Given the description of an element on the screen output the (x, y) to click on. 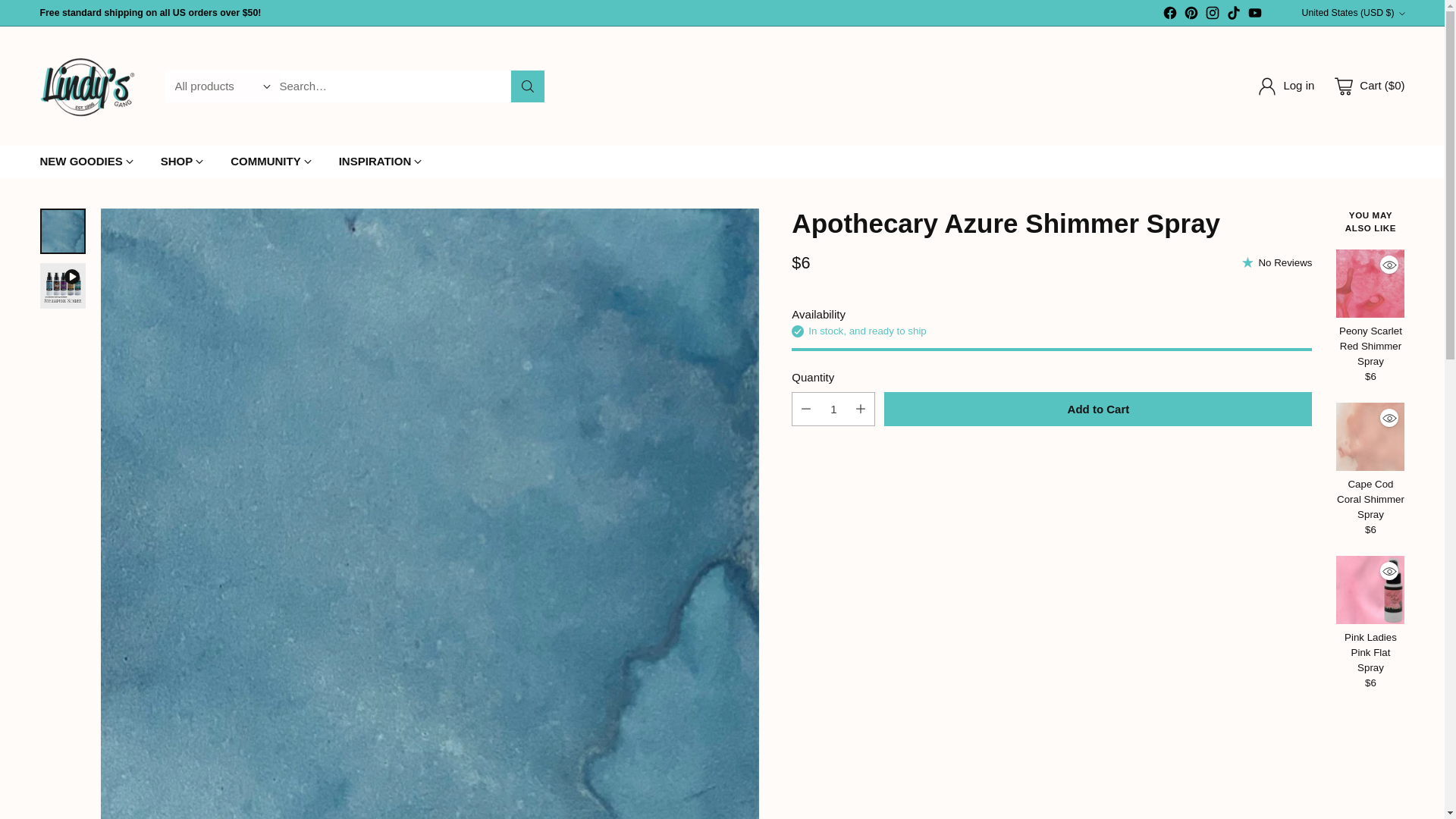
Quick View (1388, 264)
Quick View (1388, 417)
Quick View (1388, 570)
